Given the description of an element on the screen output the (x, y) to click on. 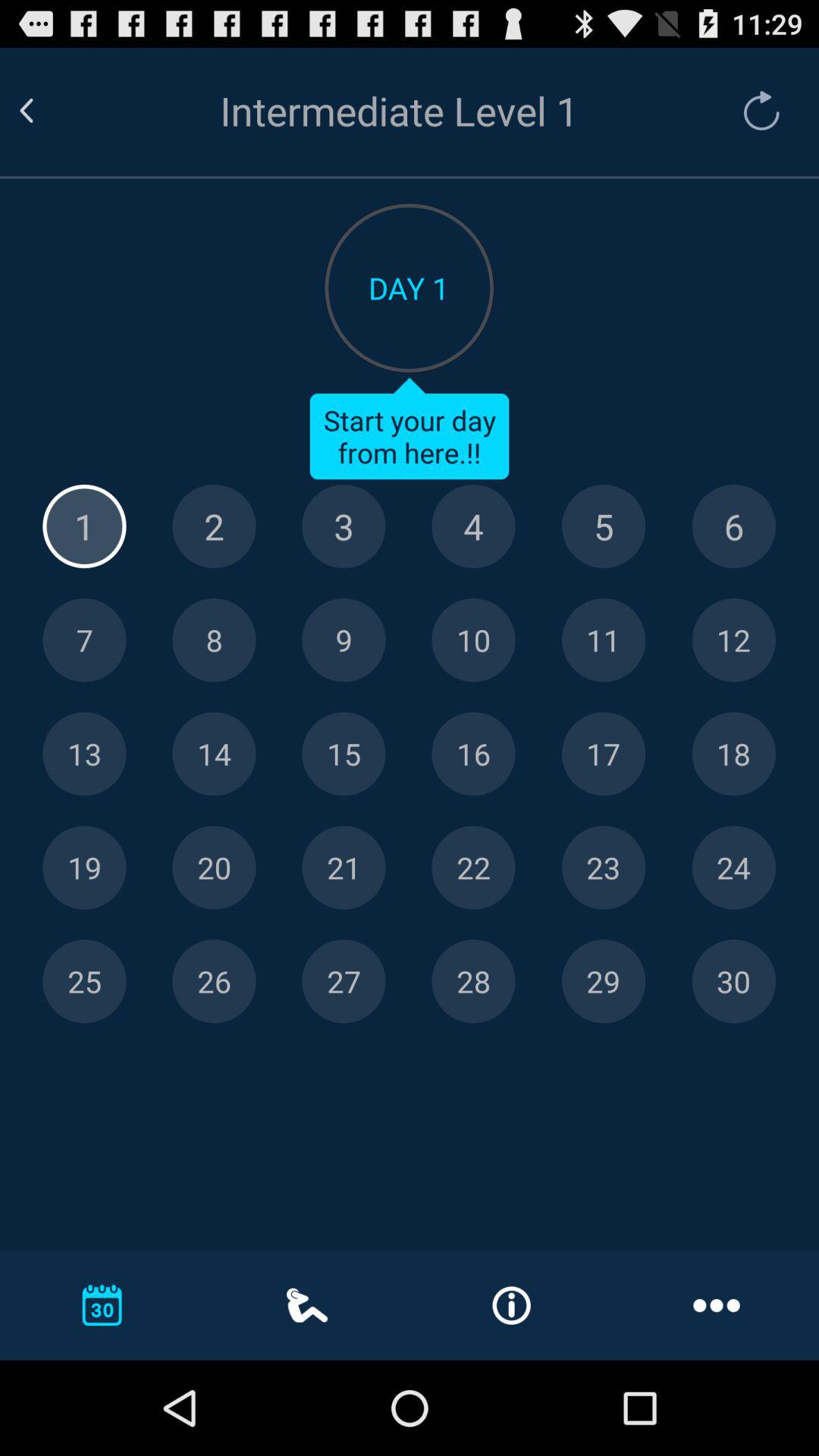
date on calendar (473, 753)
